Given the description of an element on the screen output the (x, y) to click on. 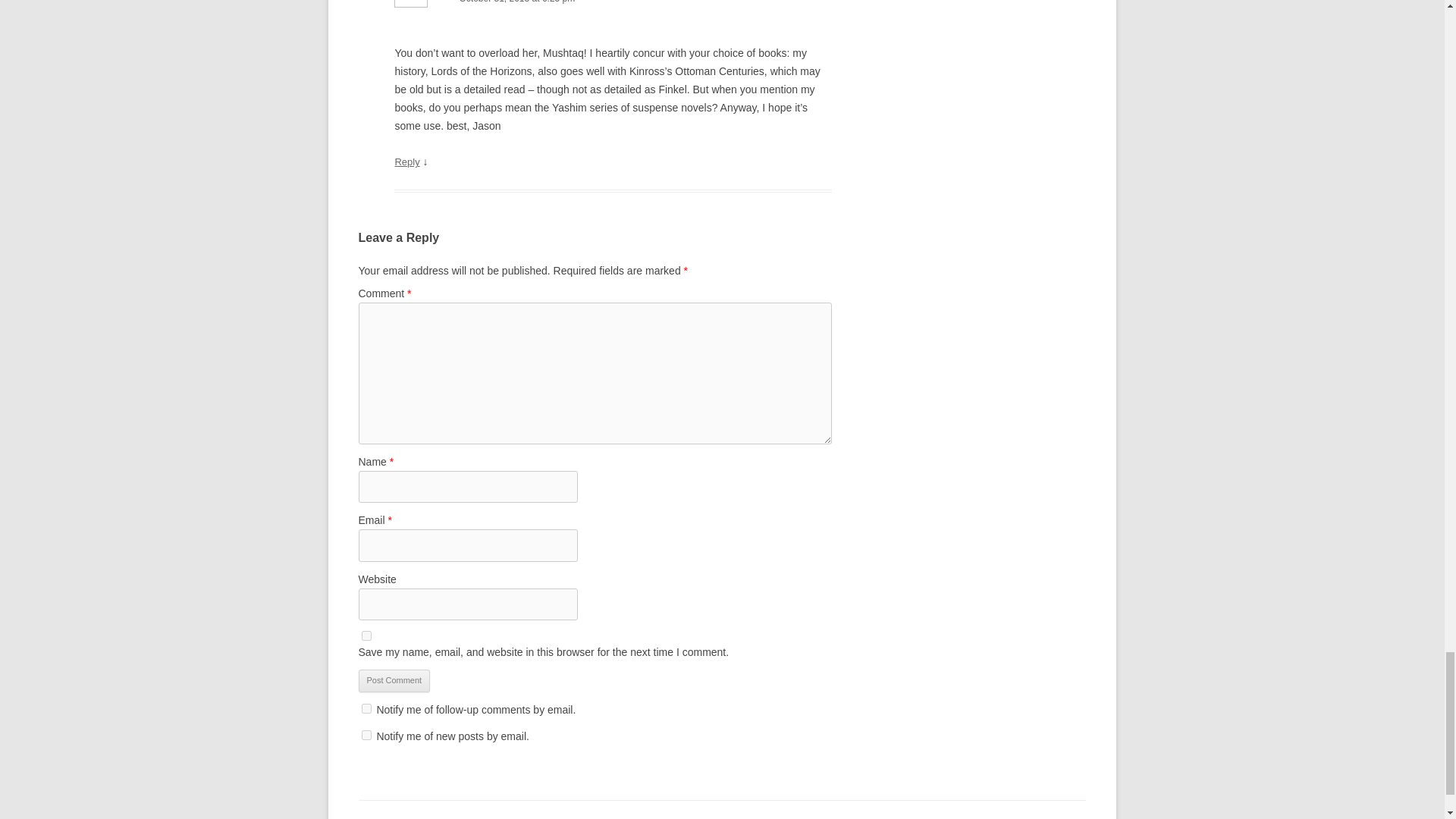
subscribe (366, 735)
subscribe (366, 708)
Post Comment (393, 680)
yes (366, 635)
